Given the description of an element on the screen output the (x, y) to click on. 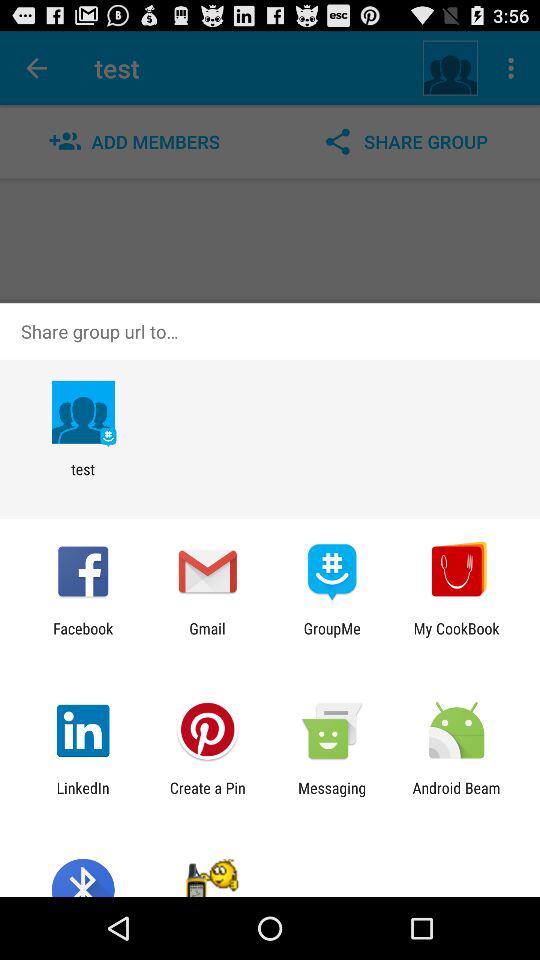
choose the app to the left of gmail (83, 637)
